Given the description of an element on the screen output the (x, y) to click on. 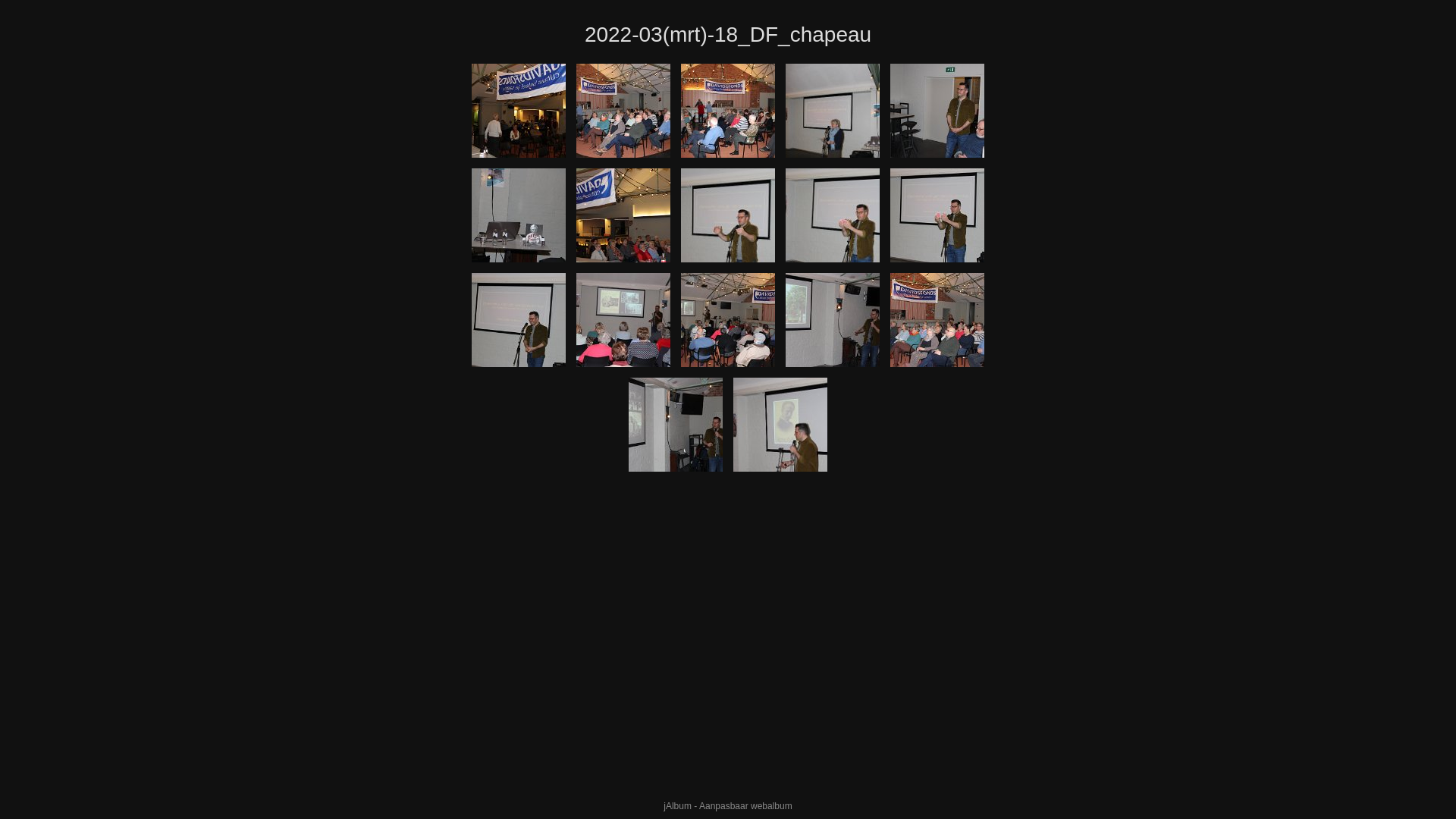
Chapeau 18.03.22_022 Element type: hover (937, 320)
Chapeau 18.03.22_020 Element type: hover (727, 320)
Chapeau 18.03.22_006 Element type: hover (727, 110)
Chapeau 18.03.22_017 Element type: hover (518, 320)
Chapeau 18.03.22_003 Element type: hover (518, 110)
Chapeau 18.03.22_014 Element type: hover (727, 215)
Chapeau 18.03.22_019 Element type: hover (623, 320)
Chapeau 18.03.22_008 Element type: hover (832, 110)
jAlbum - Aanpasbaar webalbum Element type: text (727, 805)
Chapeau 18.03.22_010 Element type: hover (518, 215)
Chapeau 18.03.22_011 Element type: hover (623, 215)
Chapeau 18.03.22_023 Element type: hover (675, 424)
Chapeau 18.03.22_024 Element type: hover (780, 424)
Chapeau 18.03.22_016 Element type: hover (937, 215)
Chapeau 18.03.22_009 Element type: hover (937, 110)
Chapeau 18.03.22_004 Element type: hover (623, 110)
Chapeau 18.03.22_021 Element type: hover (832, 320)
Chapeau 18.03.22_015 Element type: hover (832, 215)
